Given the description of an element on the screen output the (x, y) to click on. 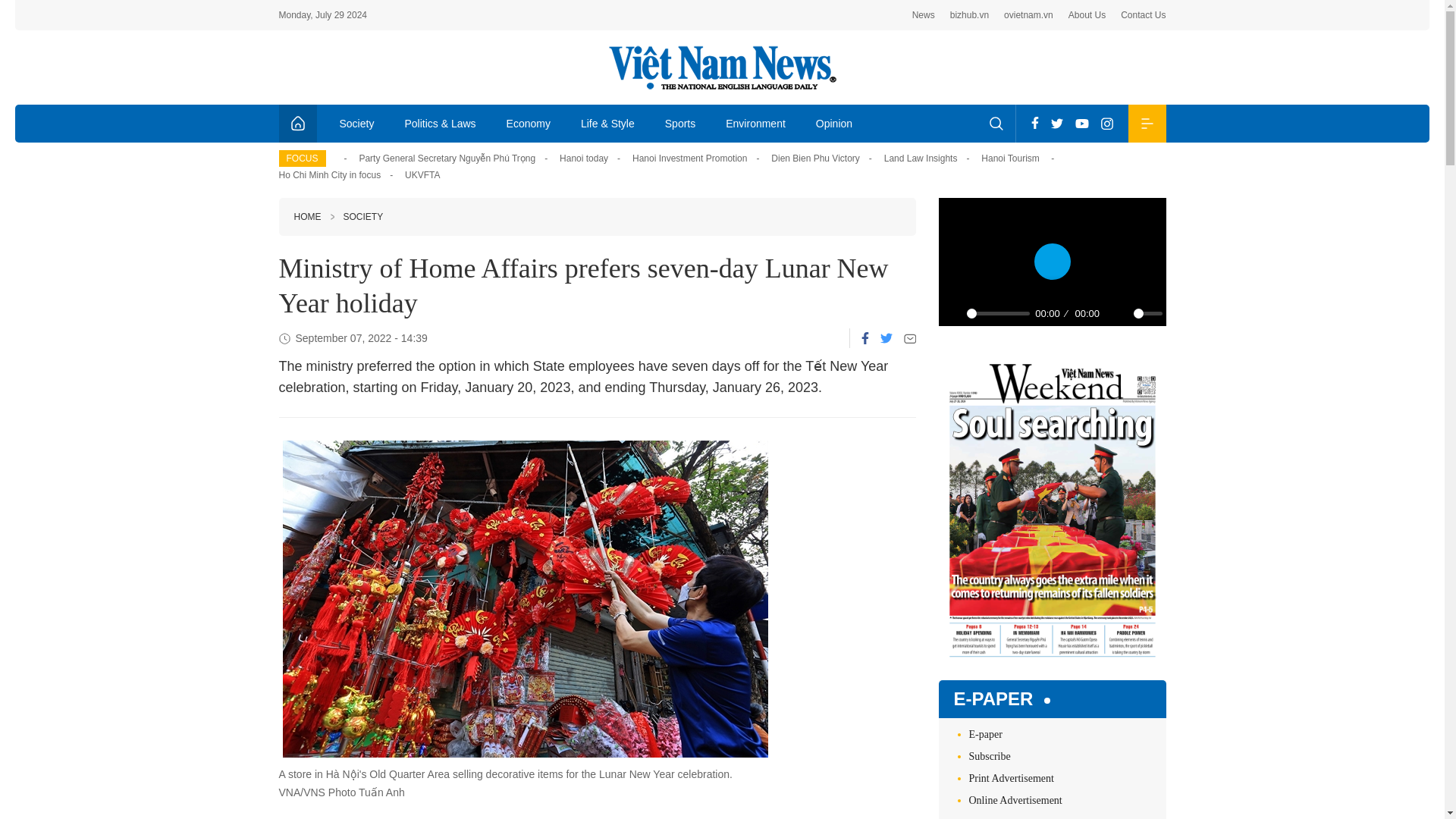
ovietnam.vn (1028, 15)
Youtube (1081, 122)
bizhub.vn (969, 15)
Twitter (1056, 122)
Instagram (1106, 123)
Environment (755, 123)
Society (357, 123)
Economy (529, 123)
About Us (1086, 15)
0 (997, 313)
Email (909, 338)
Sports (679, 123)
Facebook (865, 337)
Contact Us (1143, 15)
0 (1146, 313)
